Given the description of an element on the screen output the (x, y) to click on. 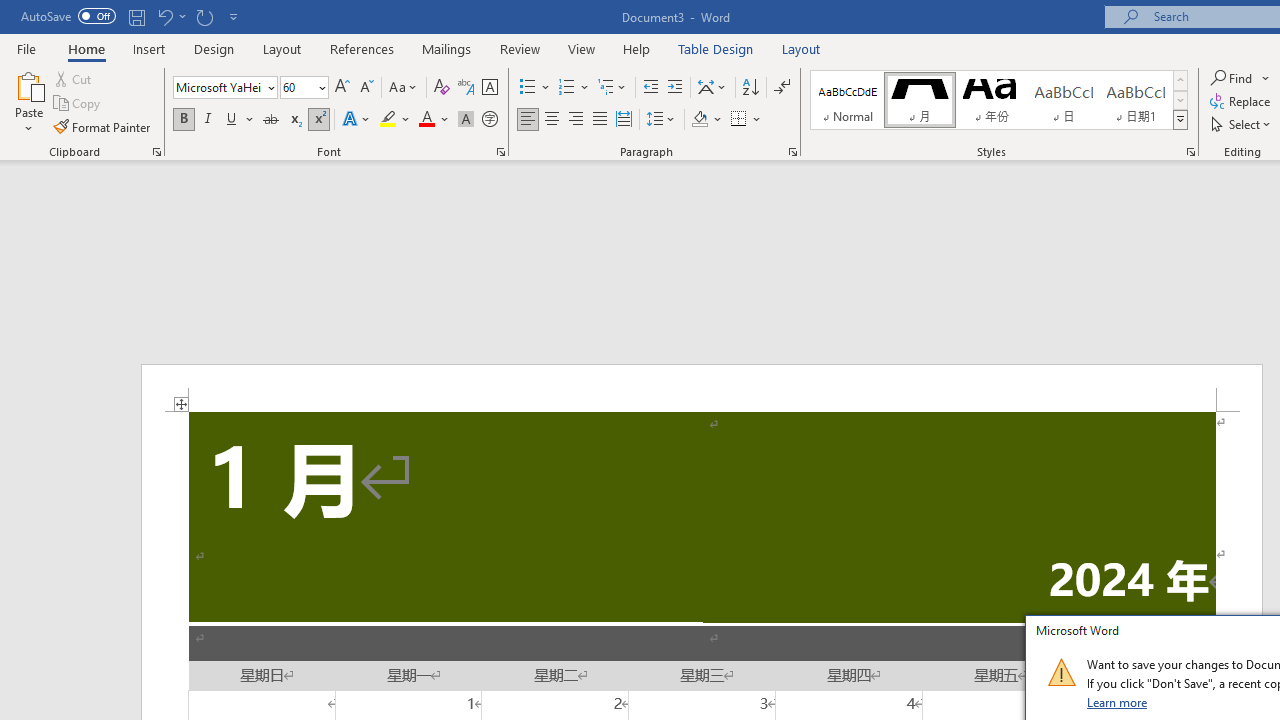
Font Color RGB(255, 0, 0) (426, 119)
Undo Superscript (170, 15)
